Given the description of an element on the screen output the (x, y) to click on. 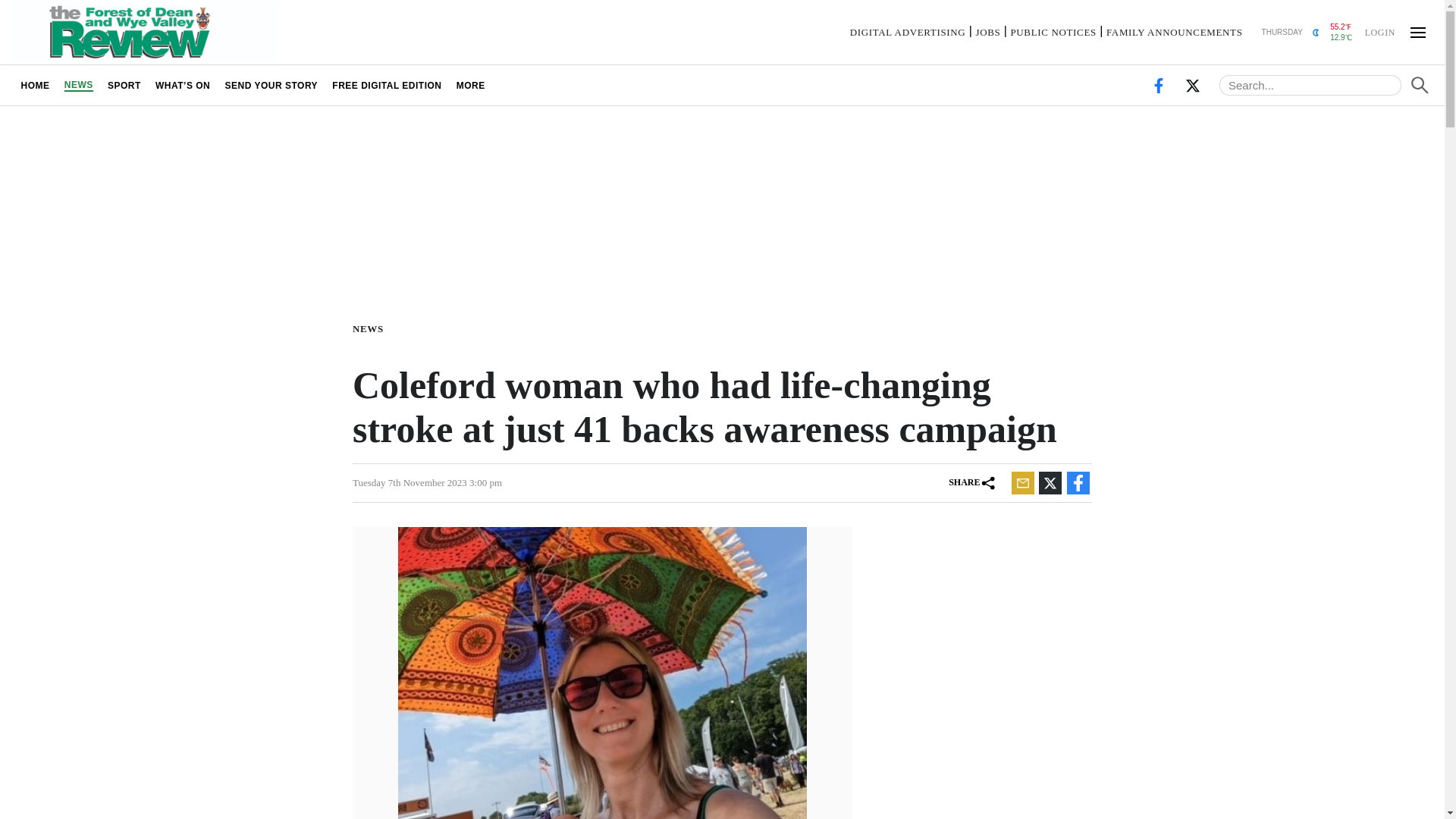
NEWS (78, 85)
SPORT (124, 85)
SEND YOUR STORY (270, 85)
LOGIN (1379, 31)
HOME (34, 85)
MORE (470, 85)
FREE DIGITAL EDITION (386, 85)
NEWS (371, 328)
FAMILY ANNOUNCEMENTS (1174, 32)
